Given the description of an element on the screen output the (x, y) to click on. 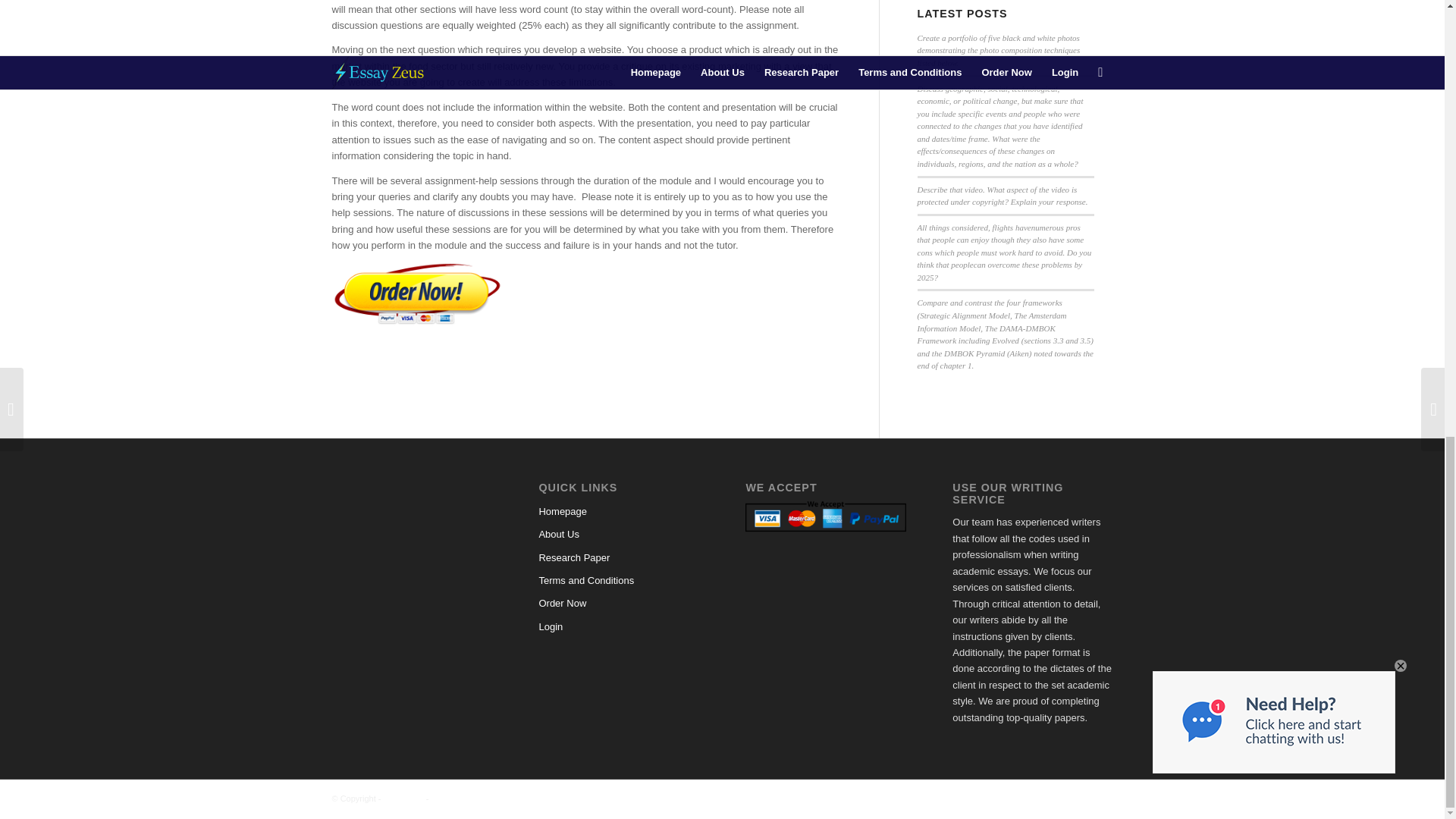
essayZeus (403, 798)
Terms and Conditions (618, 580)
Research Paper (618, 558)
Login (618, 626)
About Us (618, 534)
Homepage (618, 511)
Enfold Theme by Kriesi (473, 798)
Order Now (618, 603)
